Given the description of an element on the screen output the (x, y) to click on. 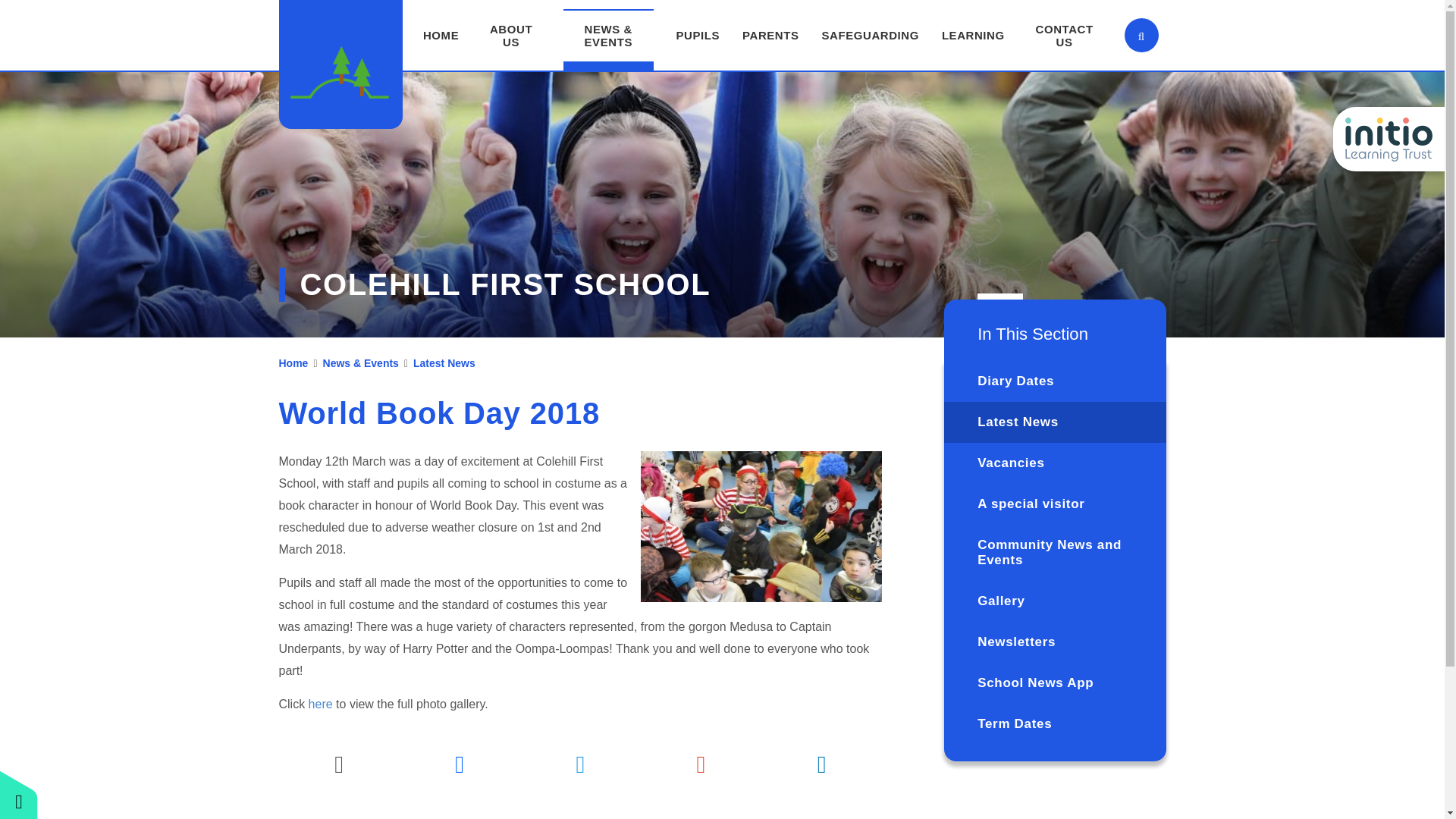
ABOUT US (510, 35)
See cookie policy (810, 419)
Allow Cookies (766, 421)
Deny Cookies (765, 421)
